Given the description of an element on the screen output the (x, y) to click on. 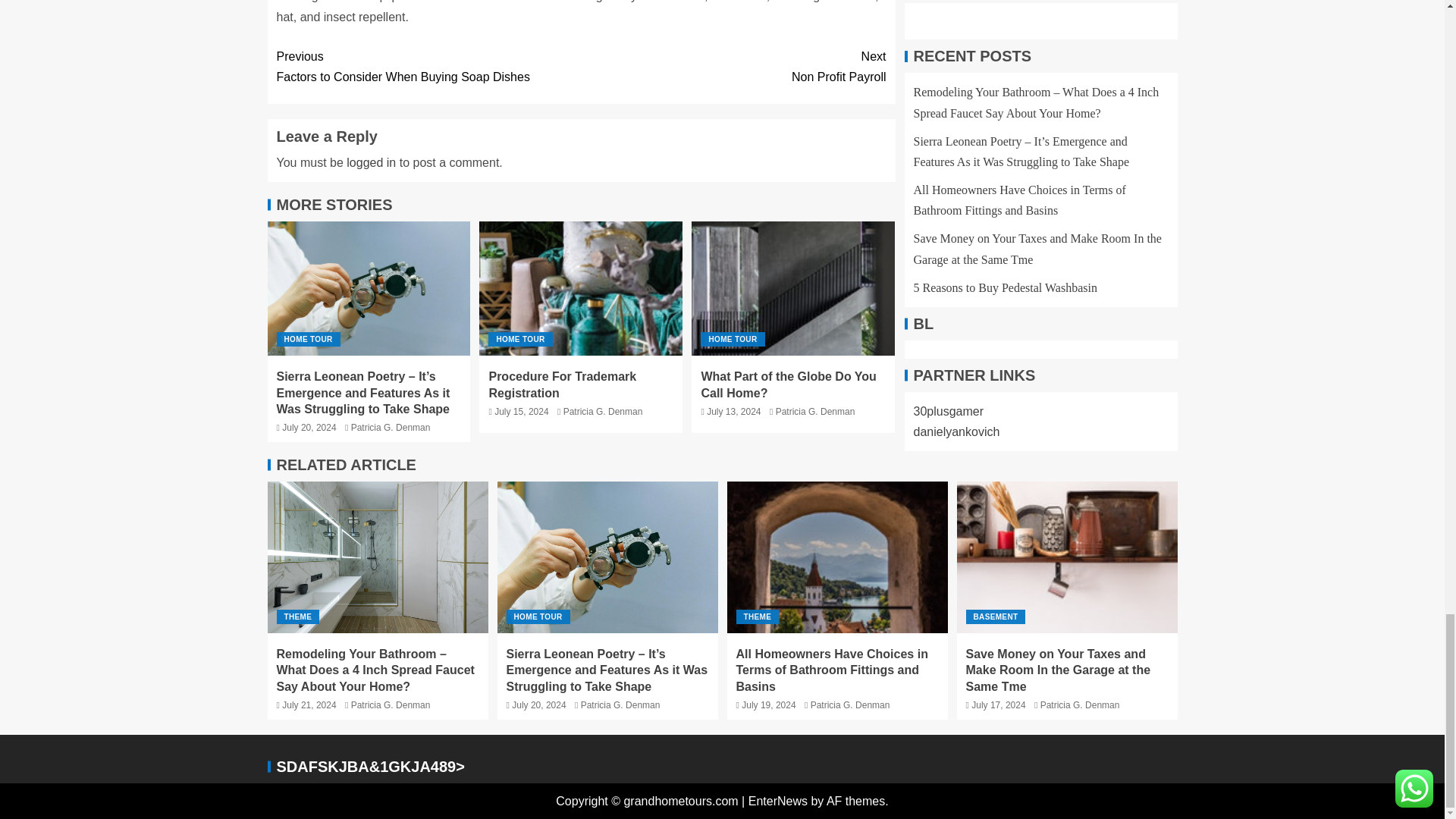
What Part of the Globe Do You Call Home? (793, 288)
Patricia G. Denman (816, 411)
What Part of the Globe Do You Call Home? (428, 65)
Procedure For Trademark Registration (788, 384)
HOME TOUR (580, 288)
logged in (732, 65)
Patricia G. Denman (732, 339)
Procedure For Trademark Registration (371, 162)
HOME TOUR (390, 427)
HOME TOUR (561, 384)
Patricia G. Denman (519, 339)
